Given the description of an element on the screen output the (x, y) to click on. 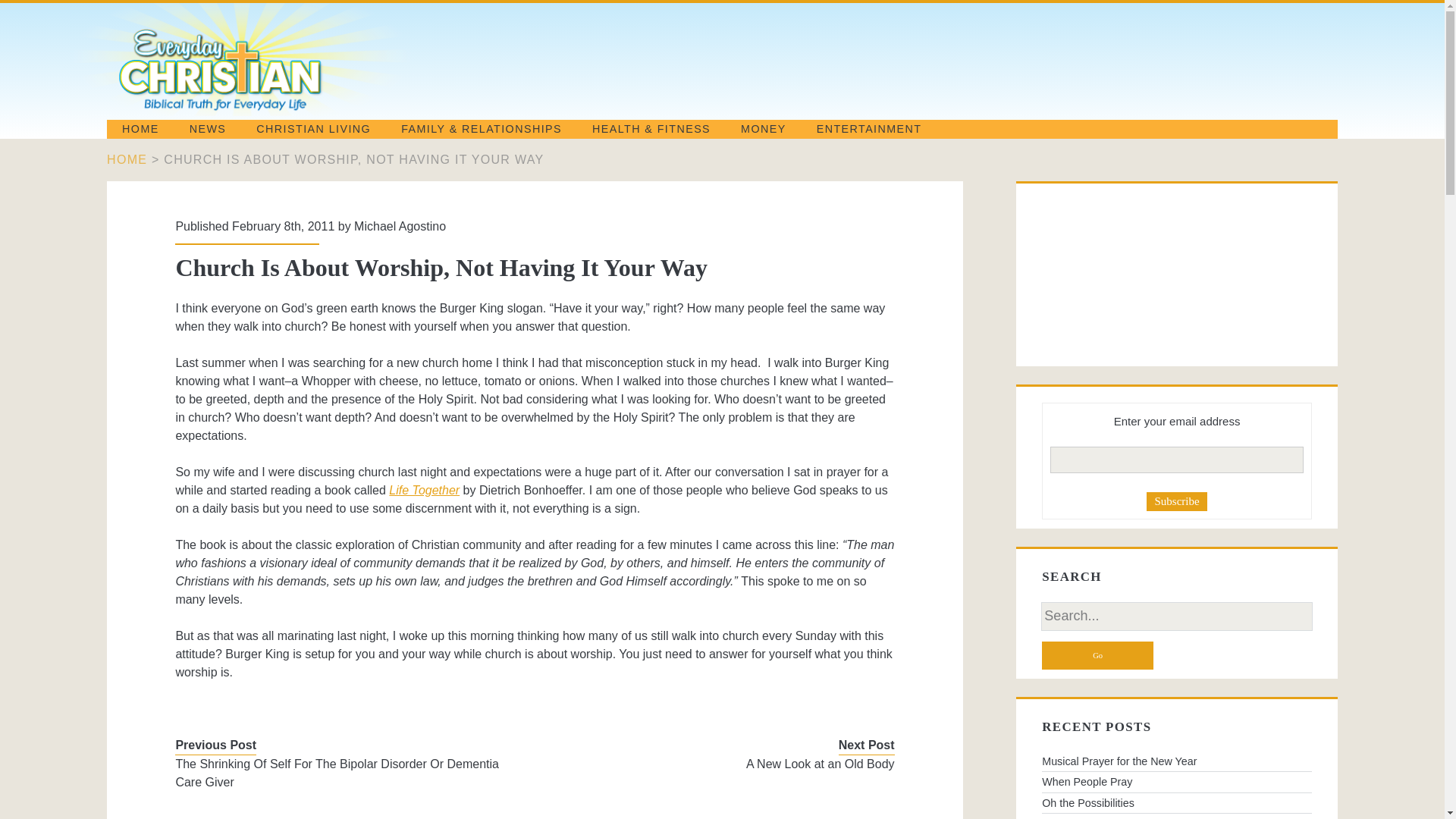
EVERYDAY CHRISTIAN (279, 109)
ENTERTAINMENT (868, 128)
S.N.O.W (1176, 816)
Subscribe (1177, 501)
Go (1097, 655)
Go (1097, 655)
MONEY (763, 128)
Subscribe (1177, 501)
Musical Prayer for the New Year (1176, 761)
Search for: (1176, 615)
Go (1097, 655)
When People Pray (1176, 781)
HOME (126, 159)
HOME (140, 128)
